Given the description of an element on the screen output the (x, y) to click on. 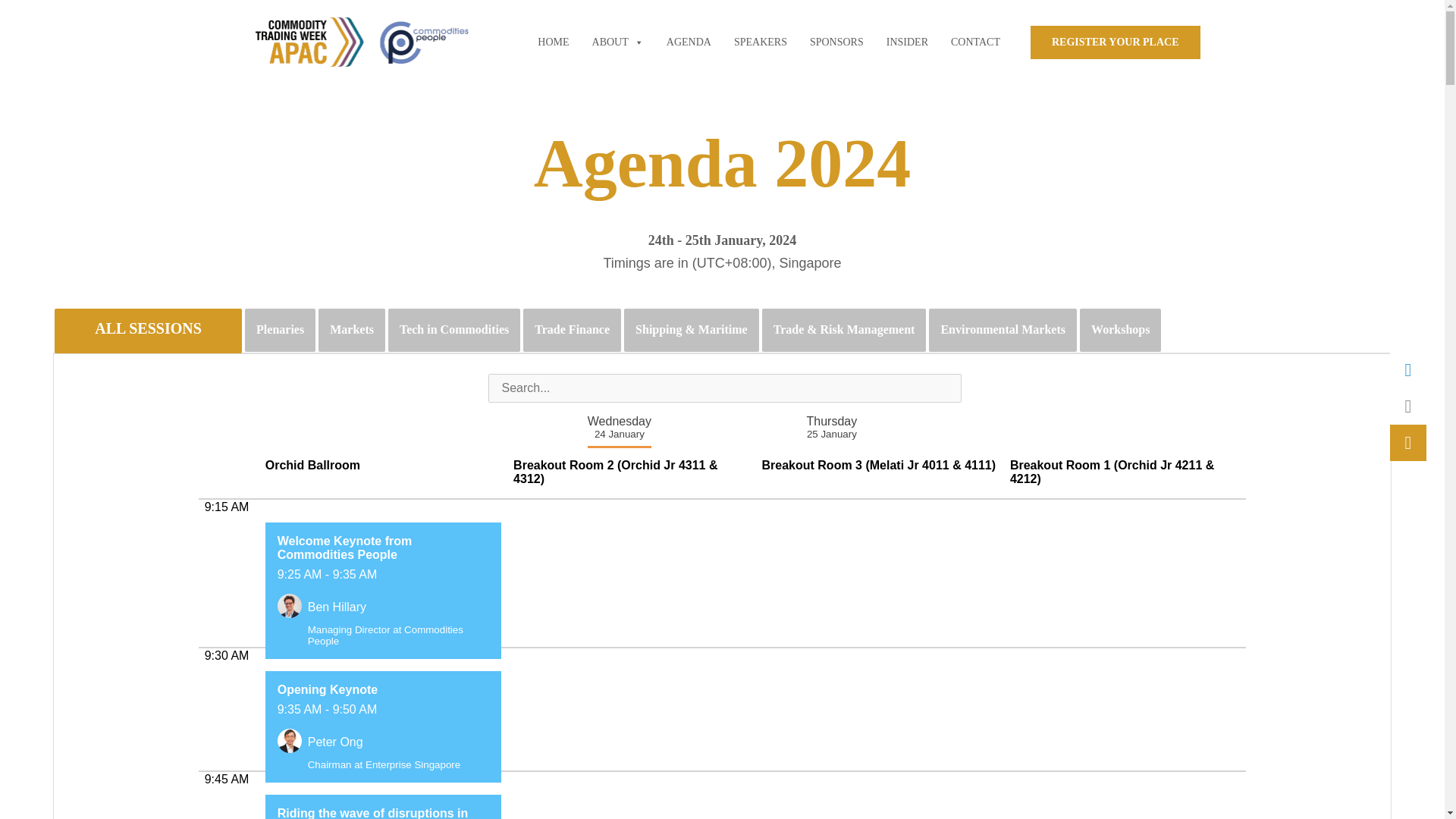
INSIDER (907, 42)
Commodity Trading Week APAC (362, 42)
AGENDA (689, 42)
HOME (552, 42)
REGISTER YOUR PLACE (1114, 41)
ABOUT (617, 42)
SPEAKERS (760, 42)
SPONSORS (836, 42)
REGISTER YOUR PLACE (1114, 41)
CONTACT (975, 42)
